Given the description of an element on the screen output the (x, y) to click on. 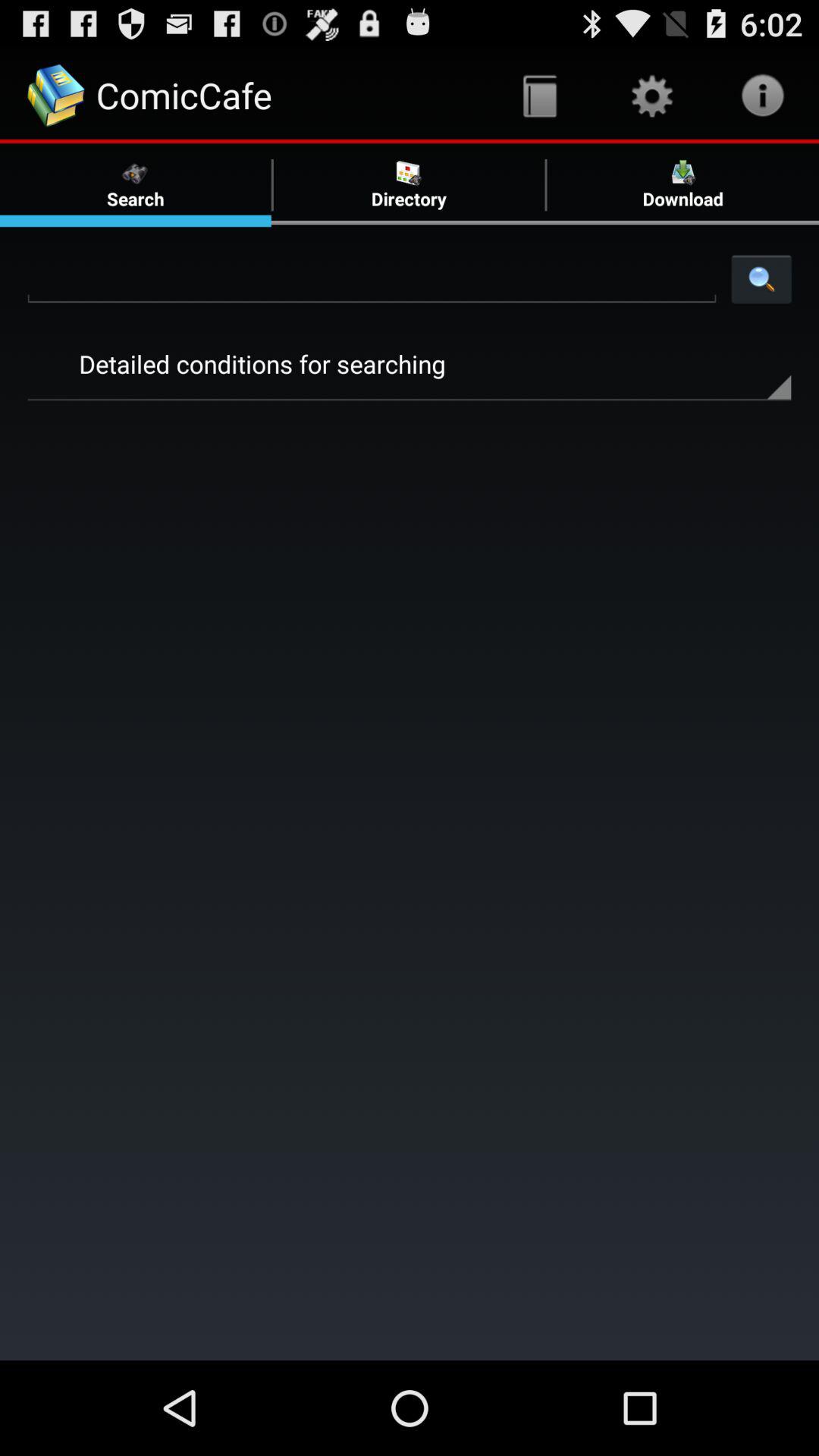
search text input (371, 278)
